Given the description of an element on the screen output the (x, y) to click on. 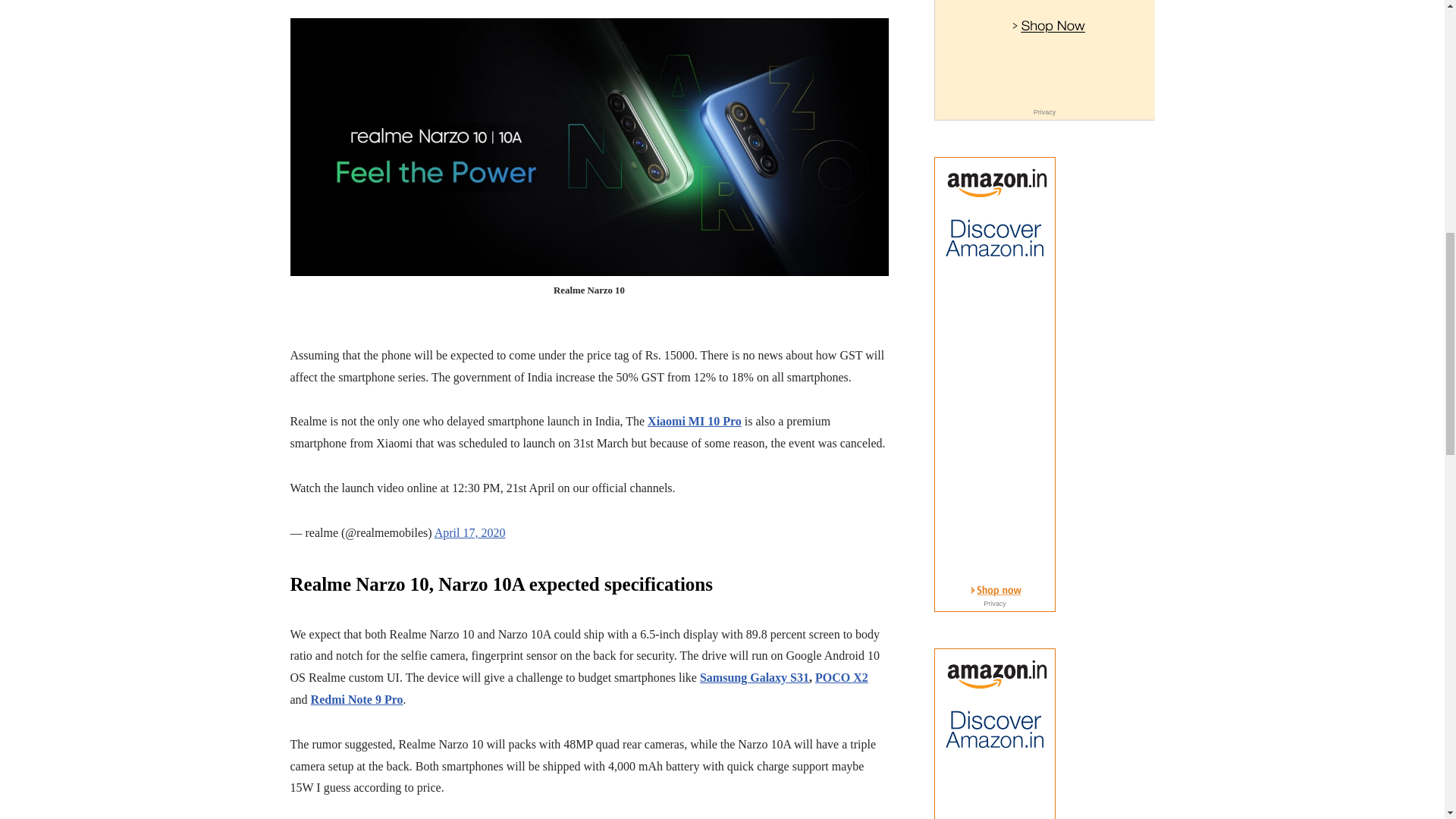
Xiaomi MI 10 Pro (694, 420)
April 17, 2020 (469, 532)
